Given the description of an element on the screen output the (x, y) to click on. 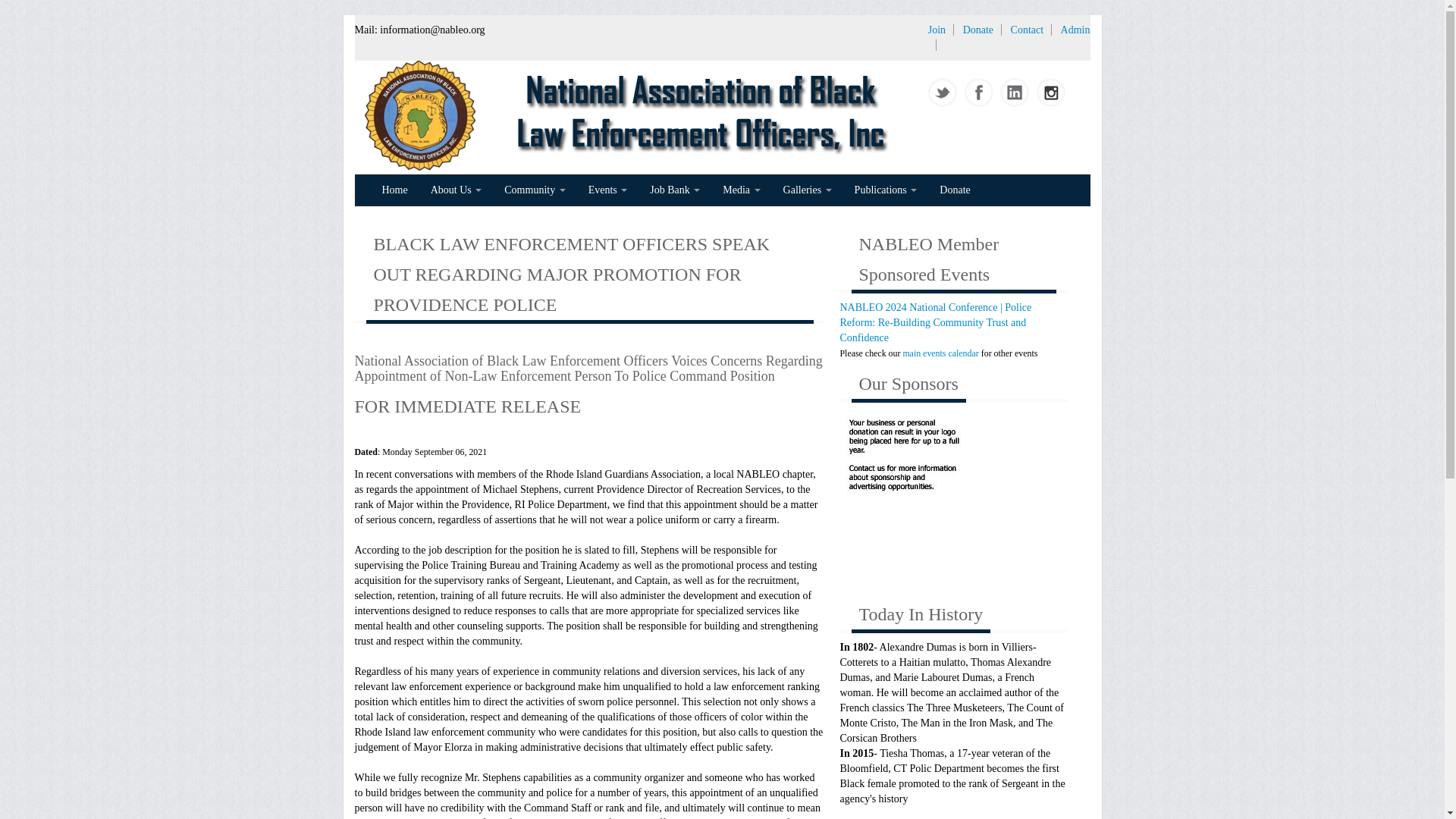
Galleries (807, 190)
Contact (1026, 30)
Job Bank (675, 190)
Community (534, 190)
Facebook (975, 93)
Facebook (979, 93)
Twitter (940, 93)
Donate (977, 30)
Twitter (943, 93)
Instagram (1050, 93)
LinkedIn (1012, 93)
Join (936, 30)
Home (394, 190)
Admin (1075, 30)
About Us (456, 190)
